Given the description of an element on the screen output the (x, y) to click on. 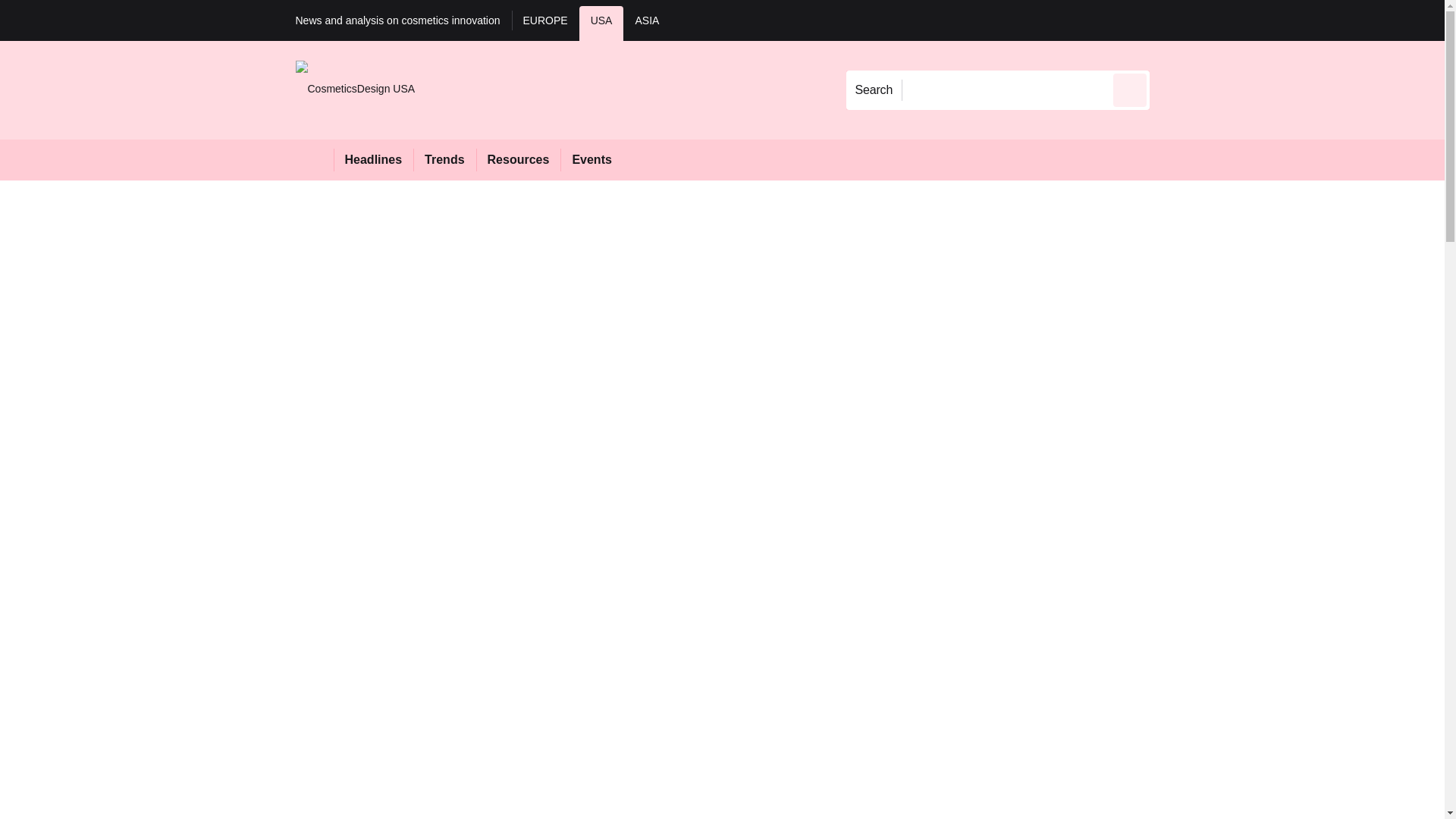
Trends (444, 159)
Sign in (1171, 20)
ASIA (646, 22)
Sign out (1174, 20)
CosmeticsDesign USA (354, 89)
EUROPE (545, 22)
Home (313, 159)
REGISTER (1250, 20)
Send (1129, 89)
Home (314, 159)
